Given the description of an element on the screen output the (x, y) to click on. 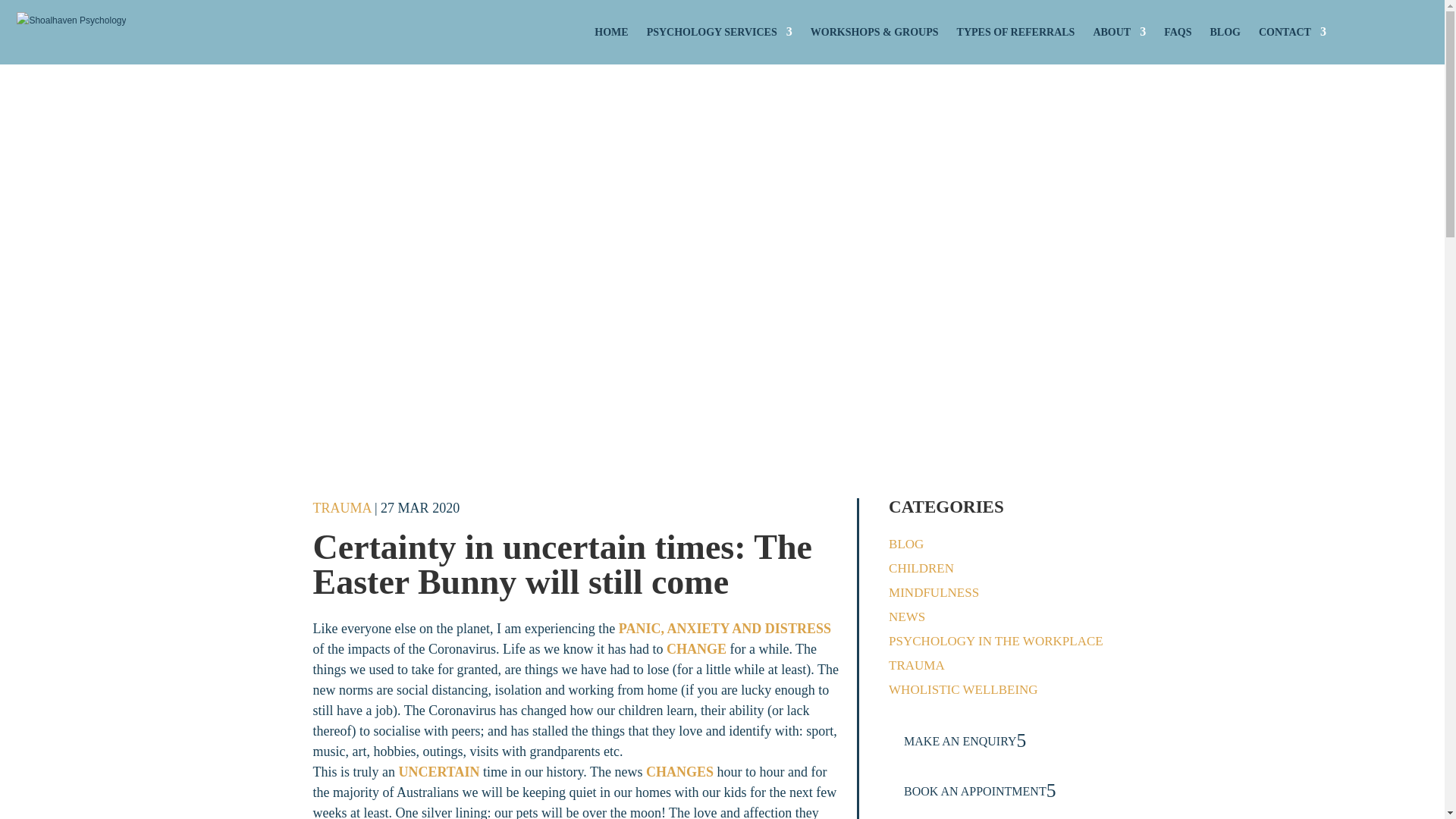
CHILDREN (920, 568)
WHOLISTIC WELLBEING (963, 689)
MINDFULNESS (933, 592)
CONTACT (1292, 31)
BLOG (905, 544)
PSYCHOLOGY IN THE WORKPLACE (995, 640)
TRAUMA (916, 665)
TYPES OF REFERRALS (1015, 31)
BOOK AN APPOINTMENT (982, 791)
PSYCHOLOGY SERVICES (719, 31)
